Given the description of an element on the screen output the (x, y) to click on. 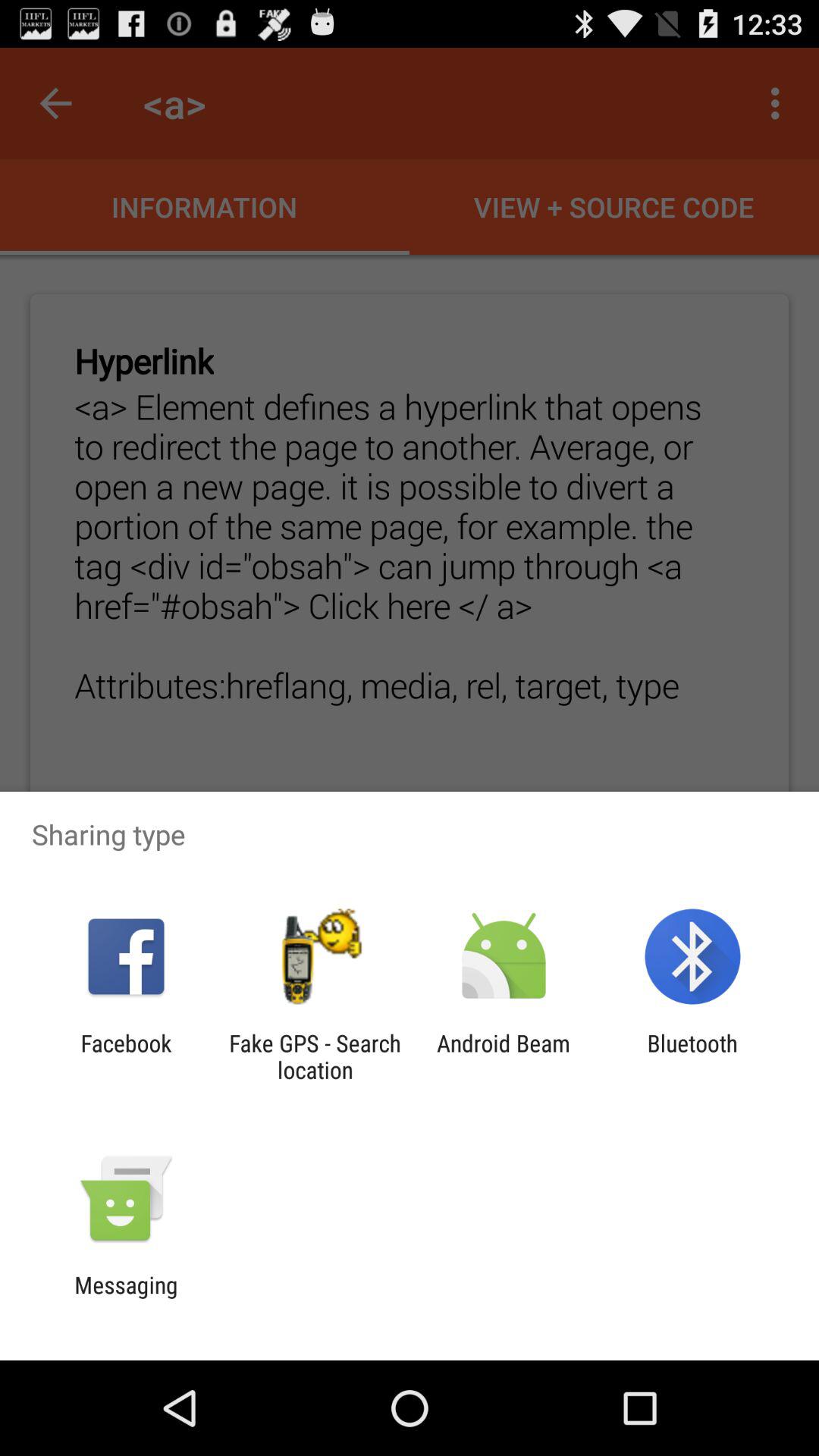
select item next to facebook app (314, 1056)
